Given the description of an element on the screen output the (x, y) to click on. 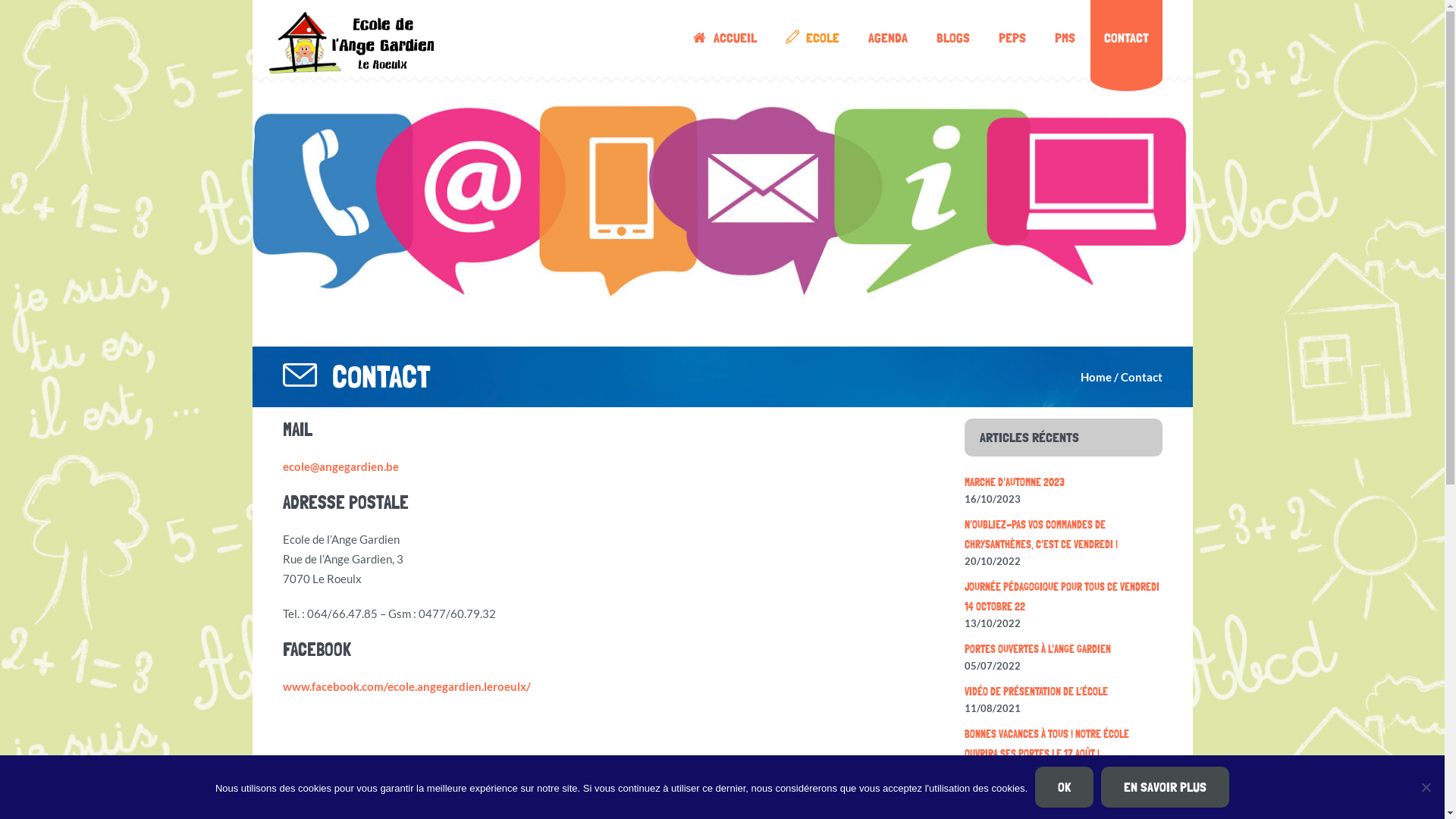
Twitter Element type: text (322, 771)
ecole@angegardien.be Element type: text (340, 466)
www.facebook.com/ecole.angegardien.leroeulx/ Element type: text (406, 686)
Email Element type: text (350, 771)
PMS Element type: text (1064, 37)
BLOGS Element type: text (953, 37)
Home Element type: text (1094, 376)
EN SAVOIR PLUS Element type: text (1165, 786)
CONTACT Element type: text (1126, 37)
Facebook Element type: text (295, 771)
AGENDA Element type: text (887, 37)
OK Element type: text (1064, 786)
No Element type: hover (1425, 786)
contact2 Element type: hover (721, 195)
Partager Element type: text (377, 771)
PEPS Element type: text (1012, 37)
ECOLE Element type: text (812, 37)
ACCUEIL Element type: text (725, 37)
